Given the description of an element on the screen output the (x, y) to click on. 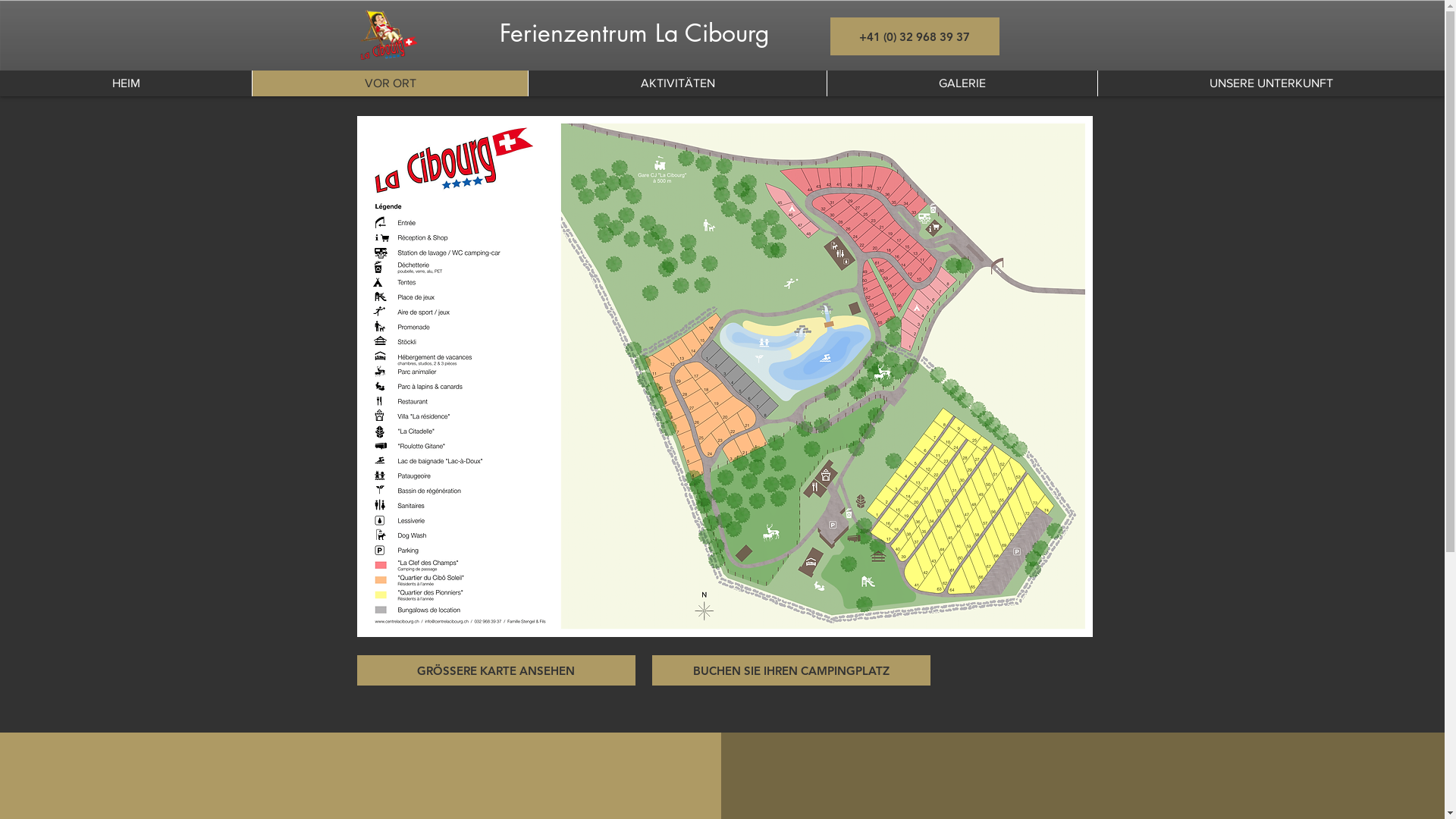
VOR ORT Element type: text (389, 83)
HEIM Element type: text (125, 83)
GALERIE Element type: text (961, 83)
BUCHEN SIE IHREN CAMPINGPLATZ Element type: text (791, 670)
+41 (0) 32 968 39 37 Element type: text (913, 36)
